Given the description of an element on the screen output the (x, y) to click on. 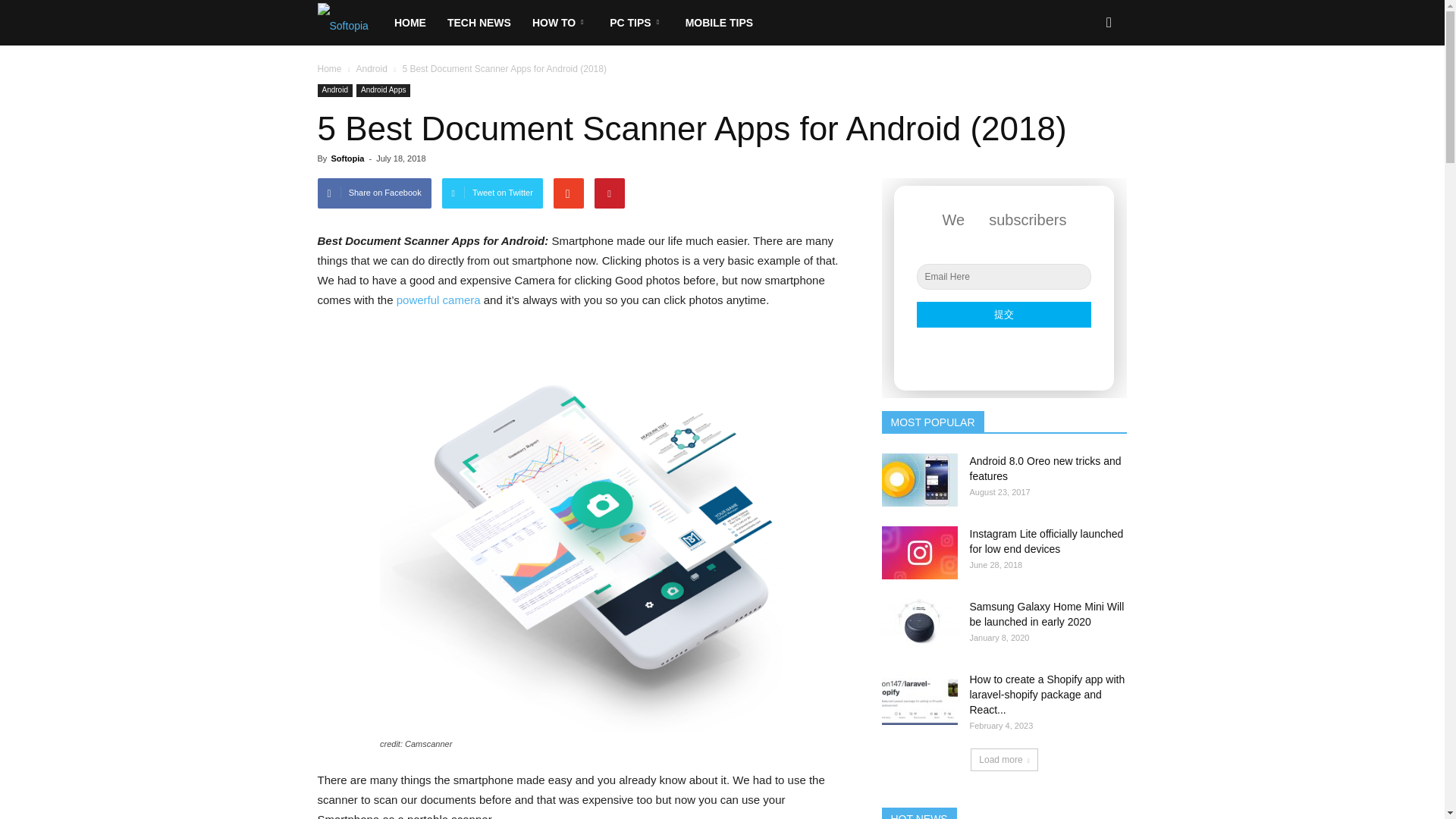
Softopia (342, 22)
Softopia (349, 22)
PC TIPS (636, 22)
TECH NEWS (478, 22)
HOW TO (559, 22)
HOME (410, 22)
